Given the description of an element on the screen output the (x, y) to click on. 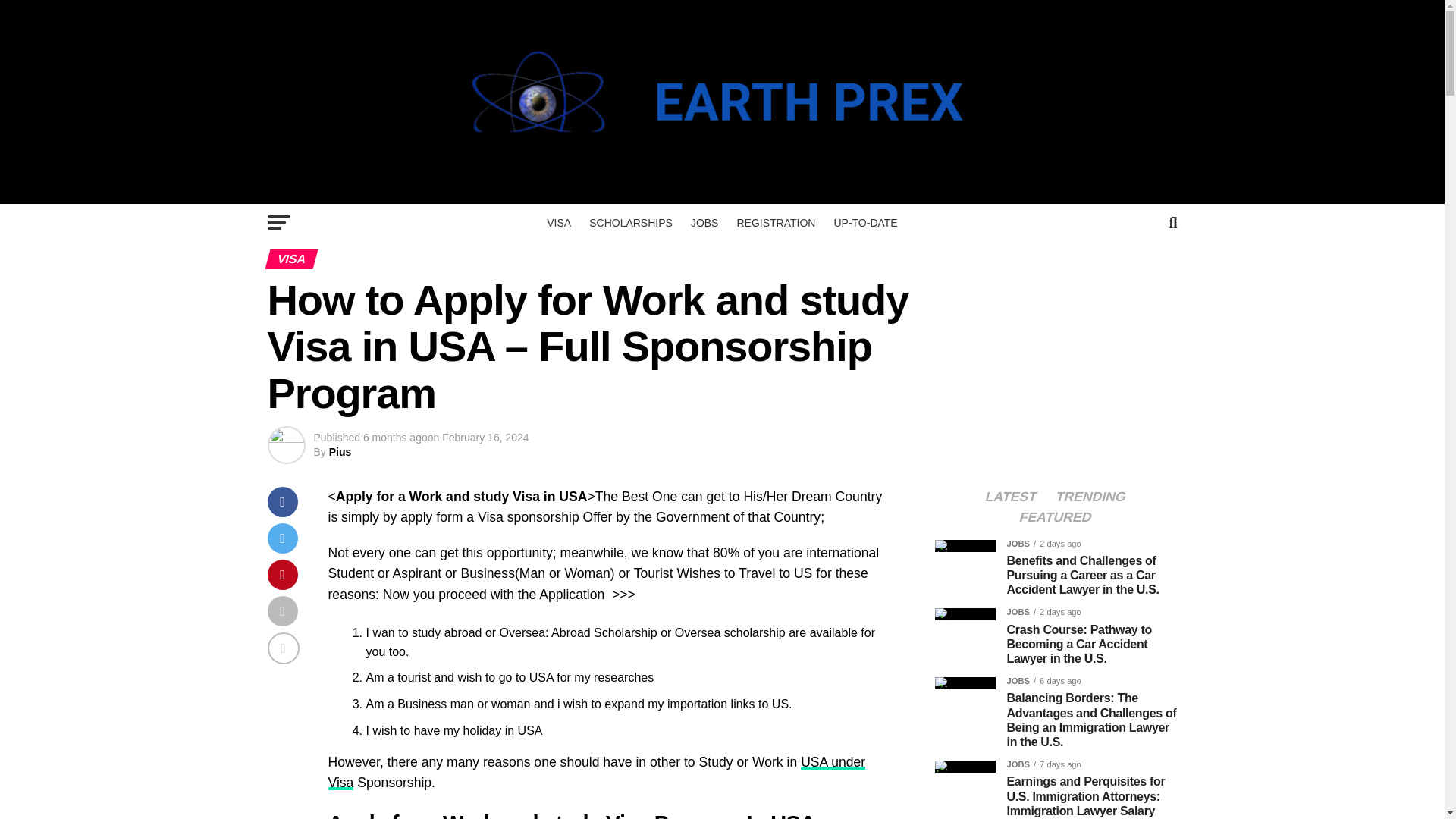
UP-TO-DATE (864, 222)
SCHOLARSHIPS (630, 222)
VISA (558, 222)
REGISTRATION (775, 222)
JOBS (704, 222)
Posts by Pius (340, 451)
